Given the description of an element on the screen output the (x, y) to click on. 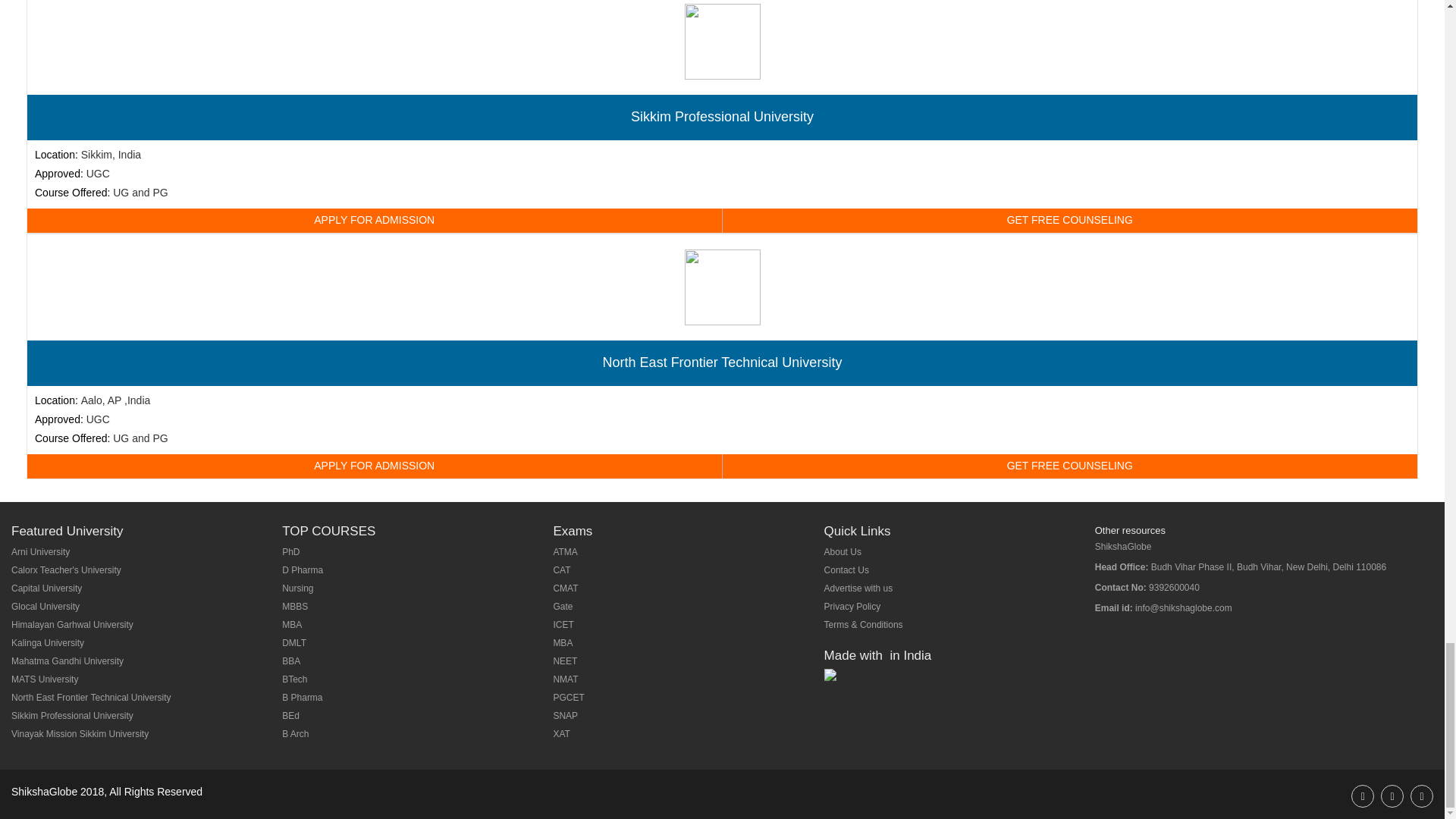
Calorx Teacher's University (65, 570)
Arni University (40, 552)
APPLY FOR ADMISSION (374, 220)
GET FREE COUNSELING (1069, 466)
GET FREE COUNSELING (1069, 220)
APPLY FOR ADMISSION (374, 466)
